Given the description of an element on the screen output the (x, y) to click on. 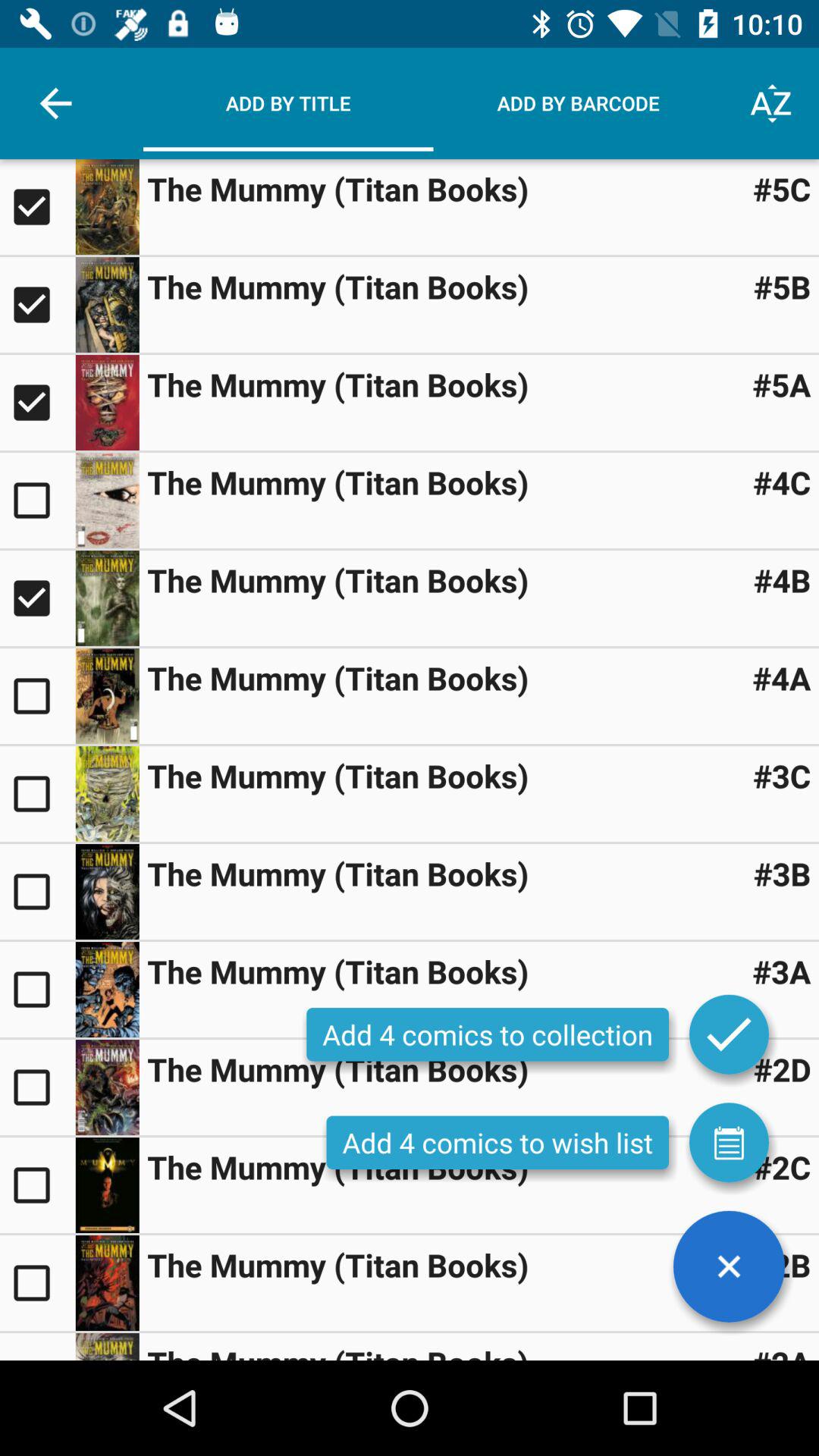
showing titan books (107, 989)
